Given the description of an element on the screen output the (x, y) to click on. 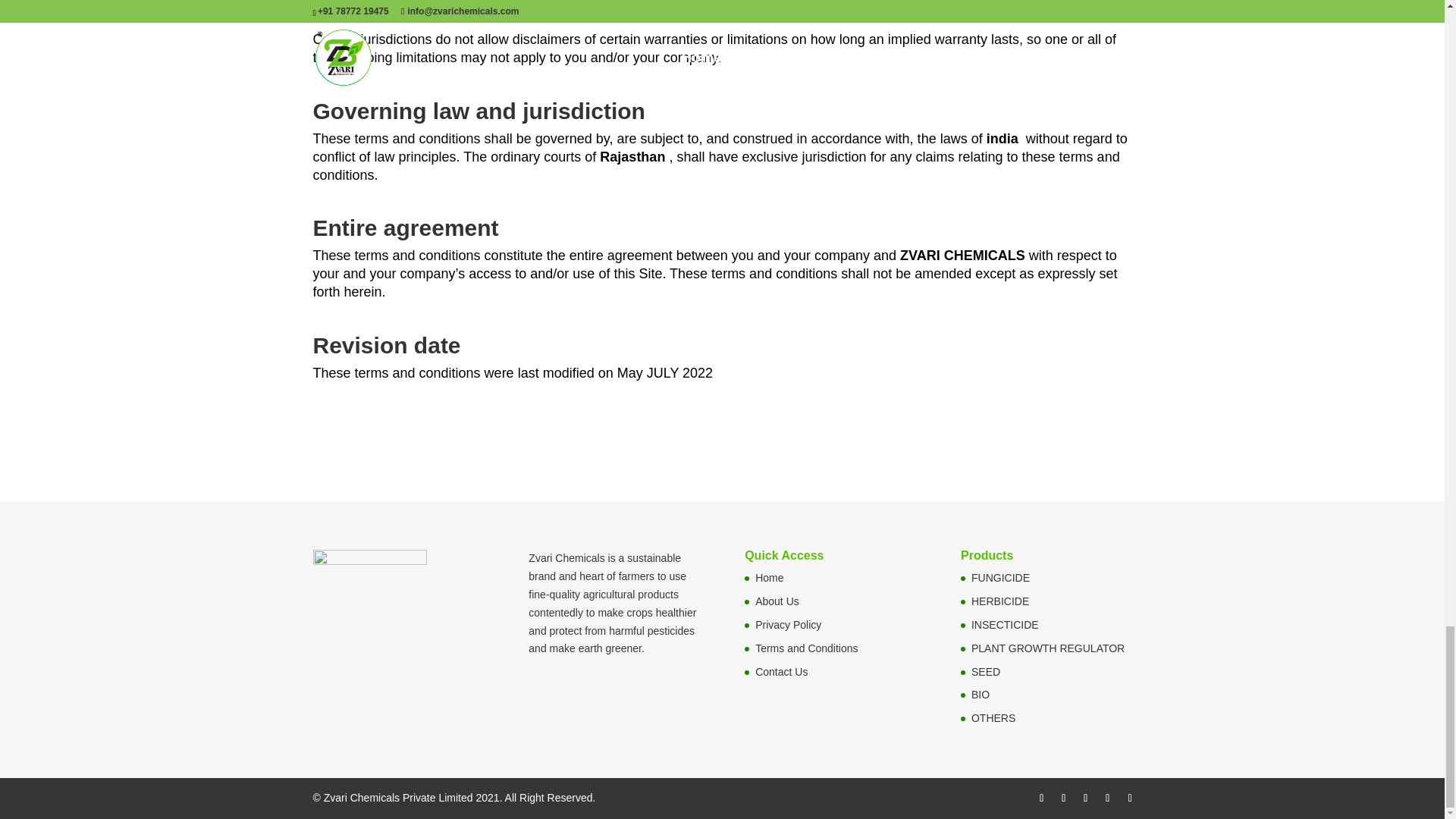
Home (769, 577)
Contact Us (781, 671)
BIO (980, 694)
HERBICIDE (1000, 601)
Terms and Conditions (806, 648)
INSECTICIDE (1005, 624)
Privacy Policy (788, 624)
FUNGICIDE (1000, 577)
PLANT GROWTH REGULATOR (1047, 648)
SEED (985, 671)
